Given the description of an element on the screen output the (x, y) to click on. 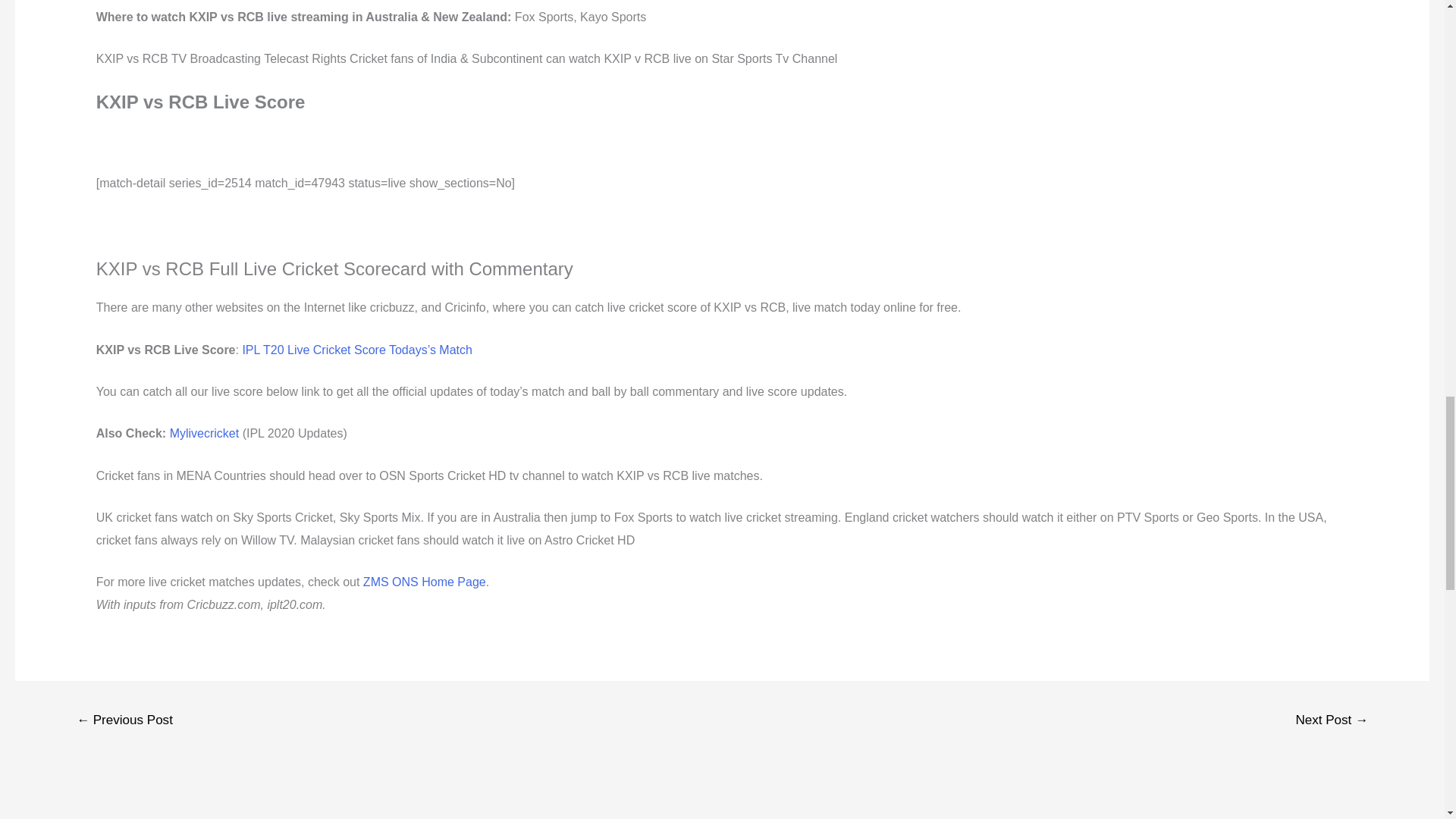
Mylivecricket (205, 432)
ZMS ONS Home Page (424, 581)
